Given the description of an element on the screen output the (x, y) to click on. 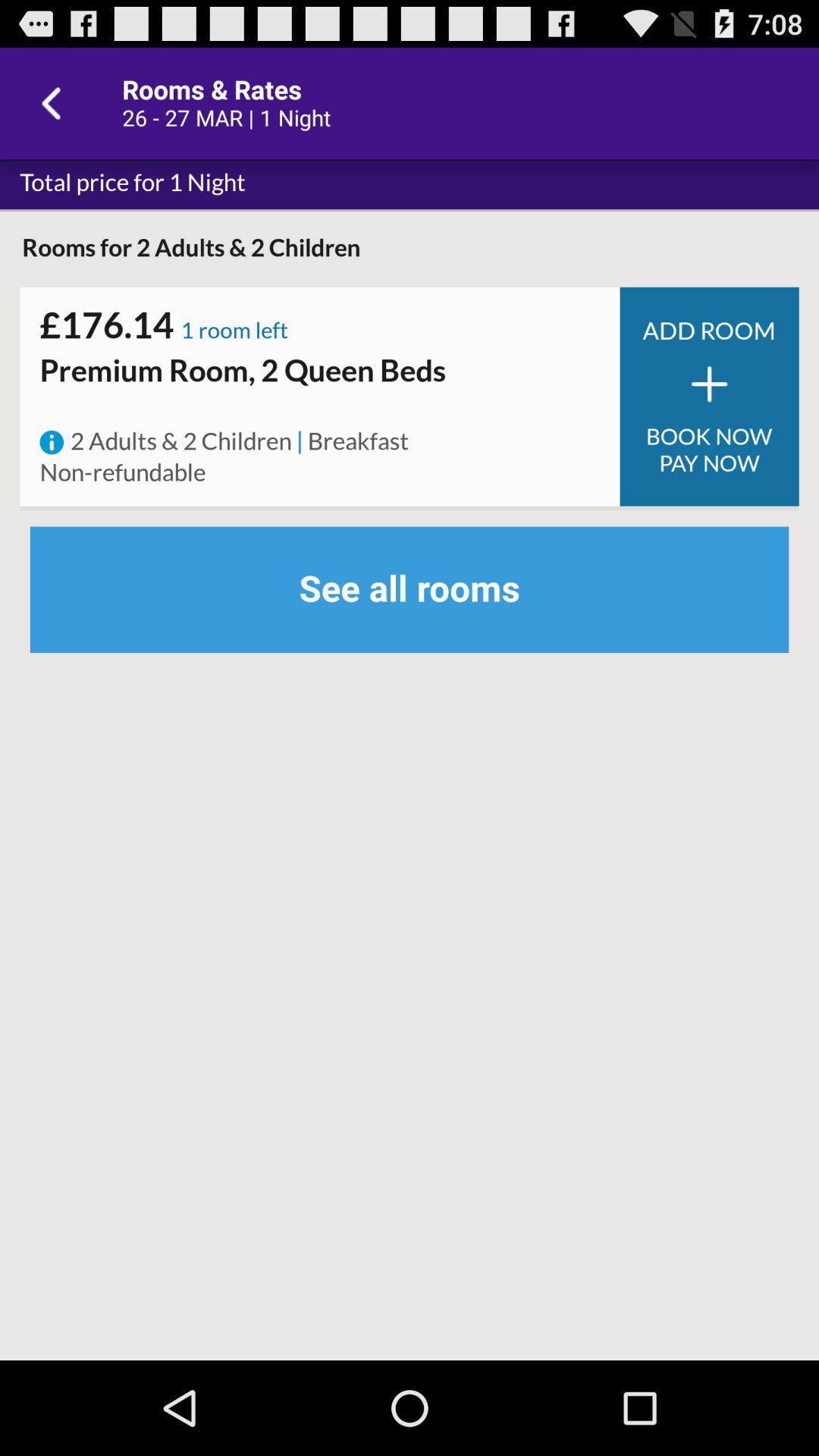
press the app to the left of the rooms & rates item (55, 103)
